Given the description of an element on the screen output the (x, y) to click on. 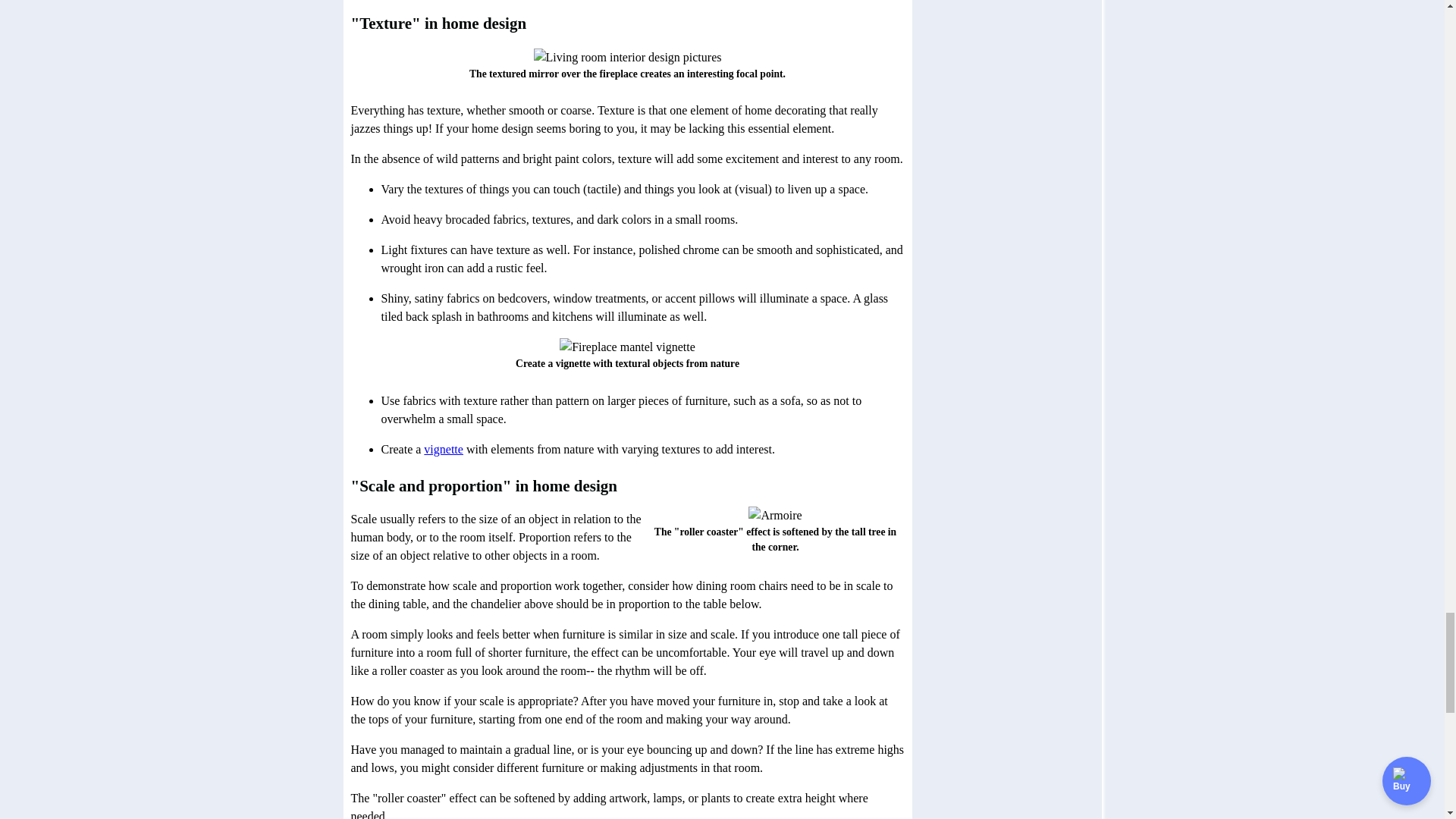
Fireplace mantel vignette (627, 347)
vignette (443, 449)
Living room interior design pictures (628, 57)
Armoire (775, 515)
